Given the description of an element on the screen output the (x, y) to click on. 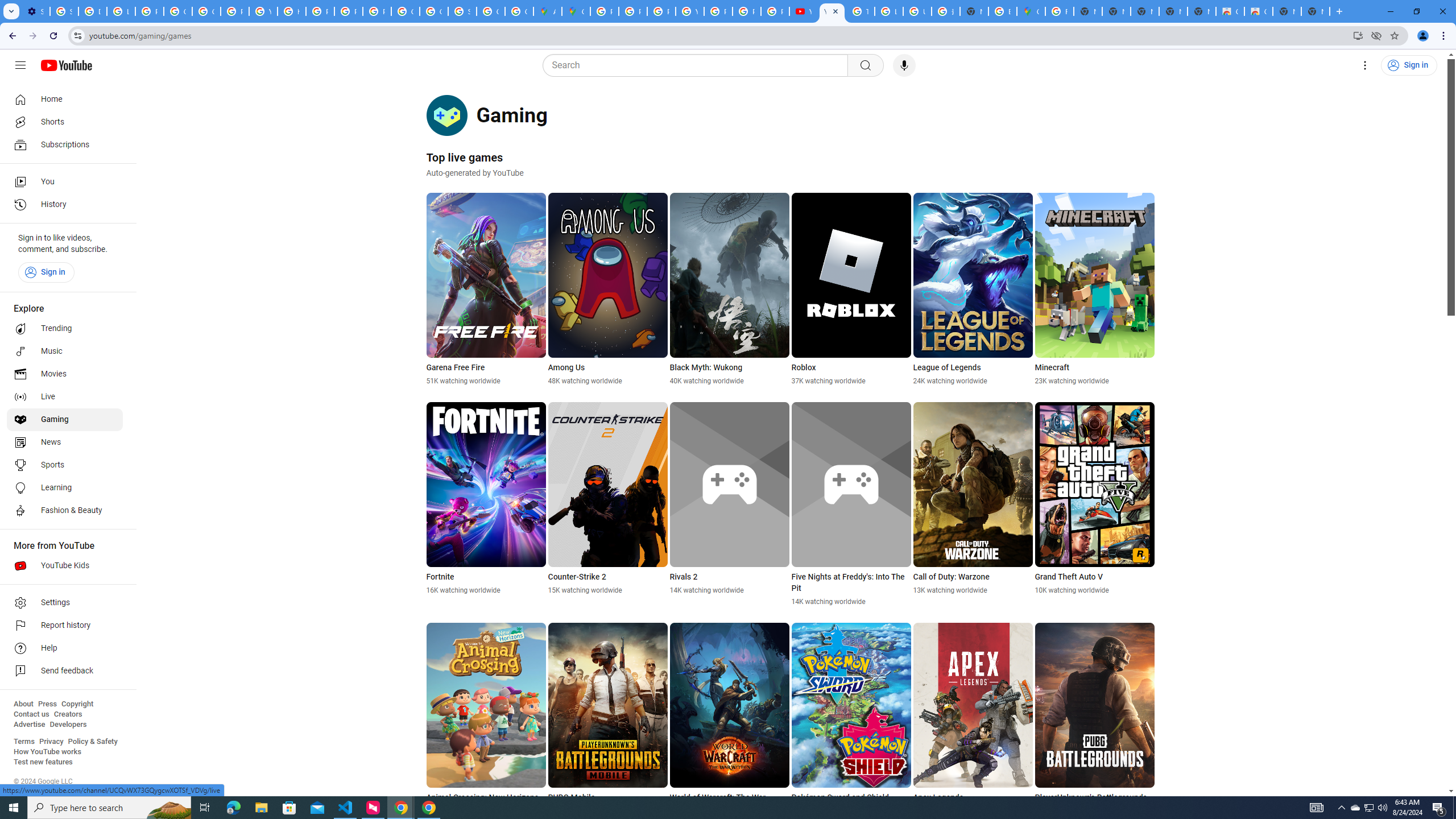
Sign in - Google Accounts (63, 11)
Subscriptions (64, 144)
Grand Theft Auto V 10K watching worldwide (1094, 498)
Privacy Checkup (746, 11)
Minecraft 23K watching worldwide (1094, 289)
Classic Blue - Chrome Web Store (1230, 11)
Fashion & Beauty (64, 510)
YouTube (831, 11)
YouTube (803, 11)
